Given the description of an element on the screen output the (x, y) to click on. 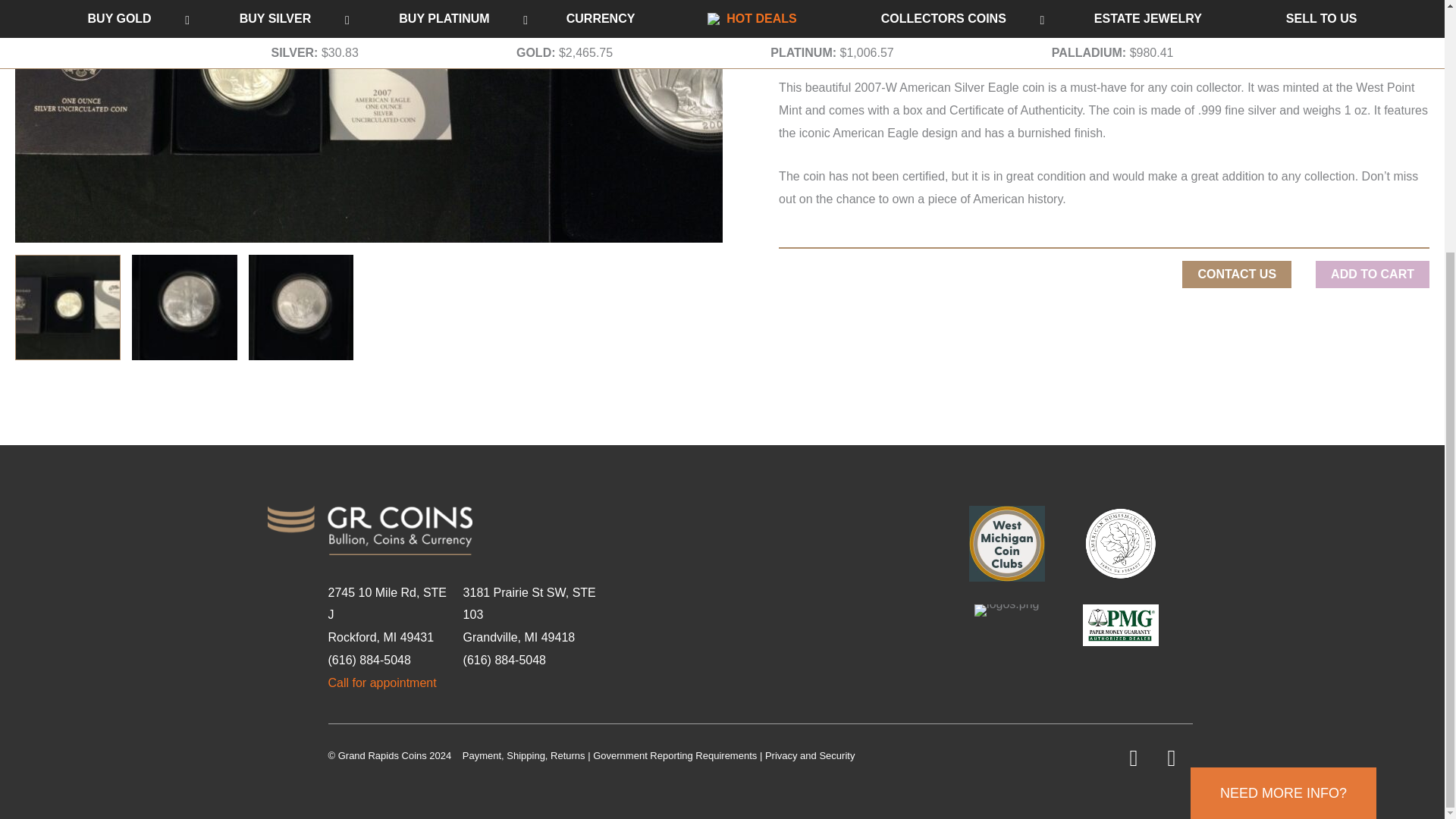
logos.png (1006, 610)
american-numismatic-society (1120, 543)
pmg (1120, 625)
